Given the description of an element on the screen output the (x, y) to click on. 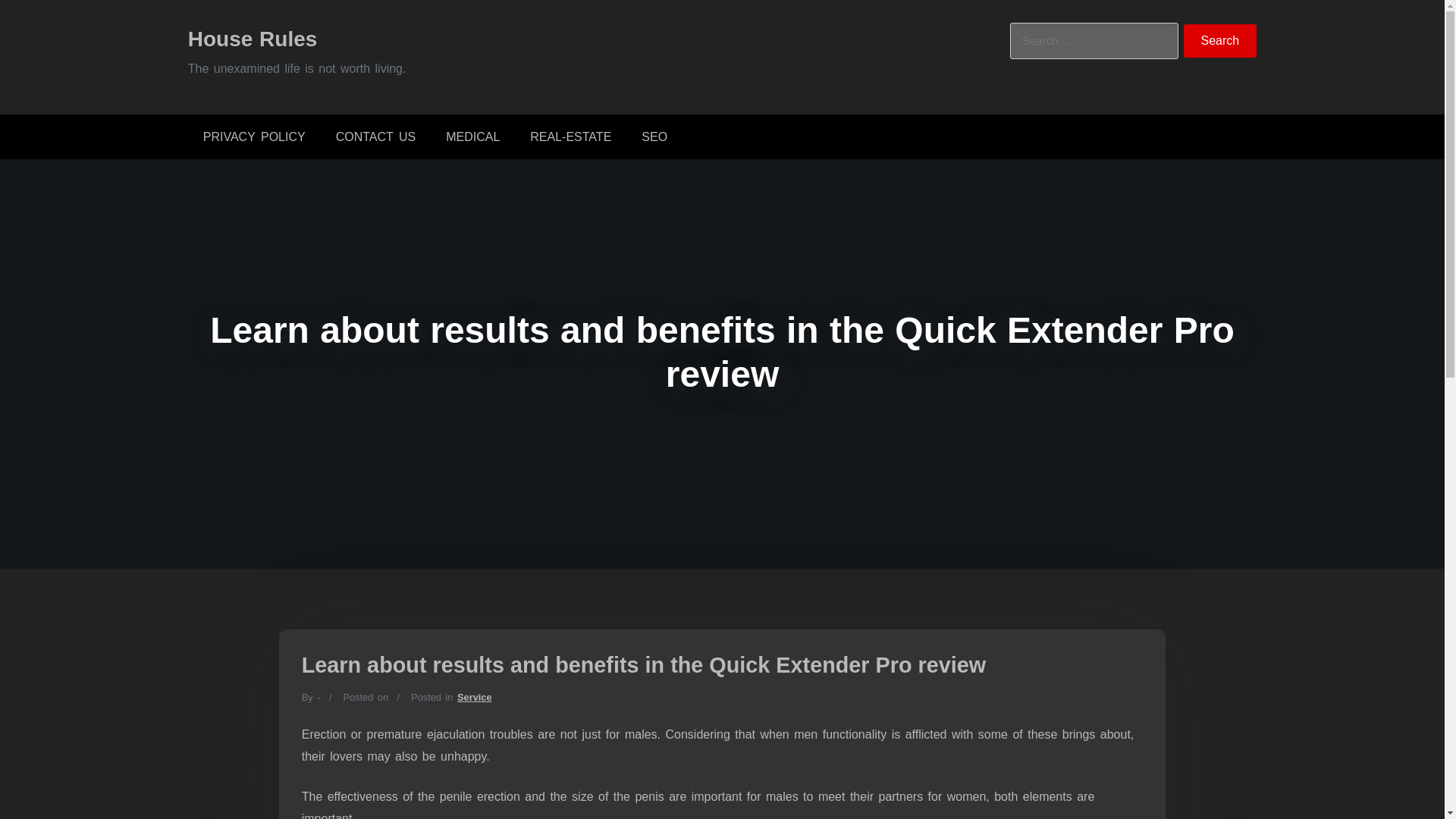
House Rules (252, 38)
MEDICAL (472, 136)
REAL-ESTATE (570, 136)
Search (1220, 40)
Search (1220, 40)
PRIVACY POLICY (253, 136)
SEO (654, 136)
CONTACT US (375, 136)
Service (474, 696)
Search (1220, 40)
